Given the description of an element on the screen output the (x, y) to click on. 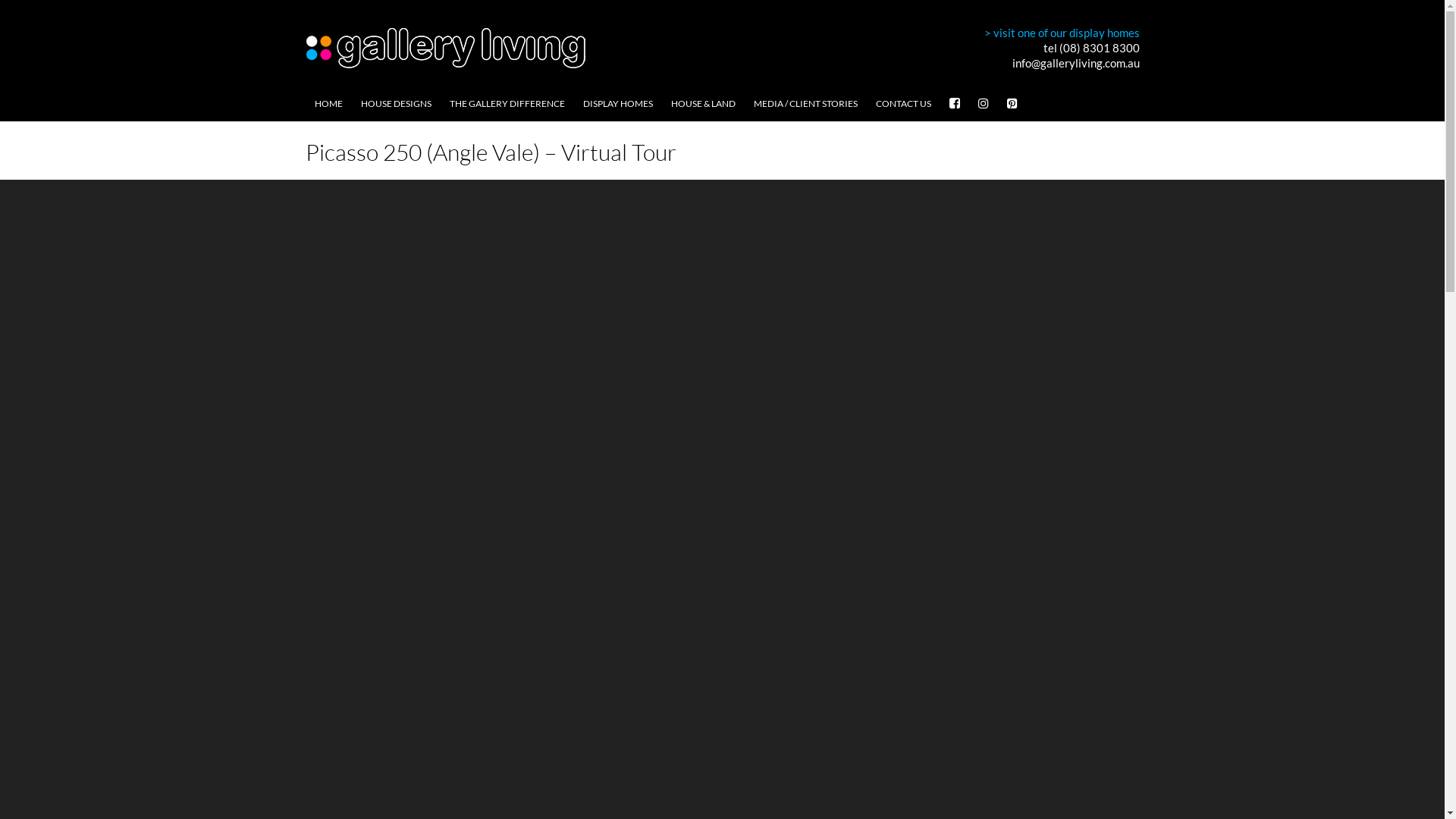
HOUSE DESIGNS Element type: text (395, 103)
> visit one of our display homes Element type: text (1061, 32)
info@galleryliving.com.au Element type: text (1075, 62)
DISPLAY HOMES Element type: text (617, 103)
tel (08) 8301 8300 Element type: text (1091, 47)
THE GALLERY DIFFERENCE Element type: text (506, 103)
MEDIA / CLIENT STORIES Element type: text (805, 103)
HOME Element type: text (327, 103)
HOUSE & LAND Element type: text (702, 103)
CONTACT US Element type: text (902, 103)
